Given the description of an element on the screen output the (x, y) to click on. 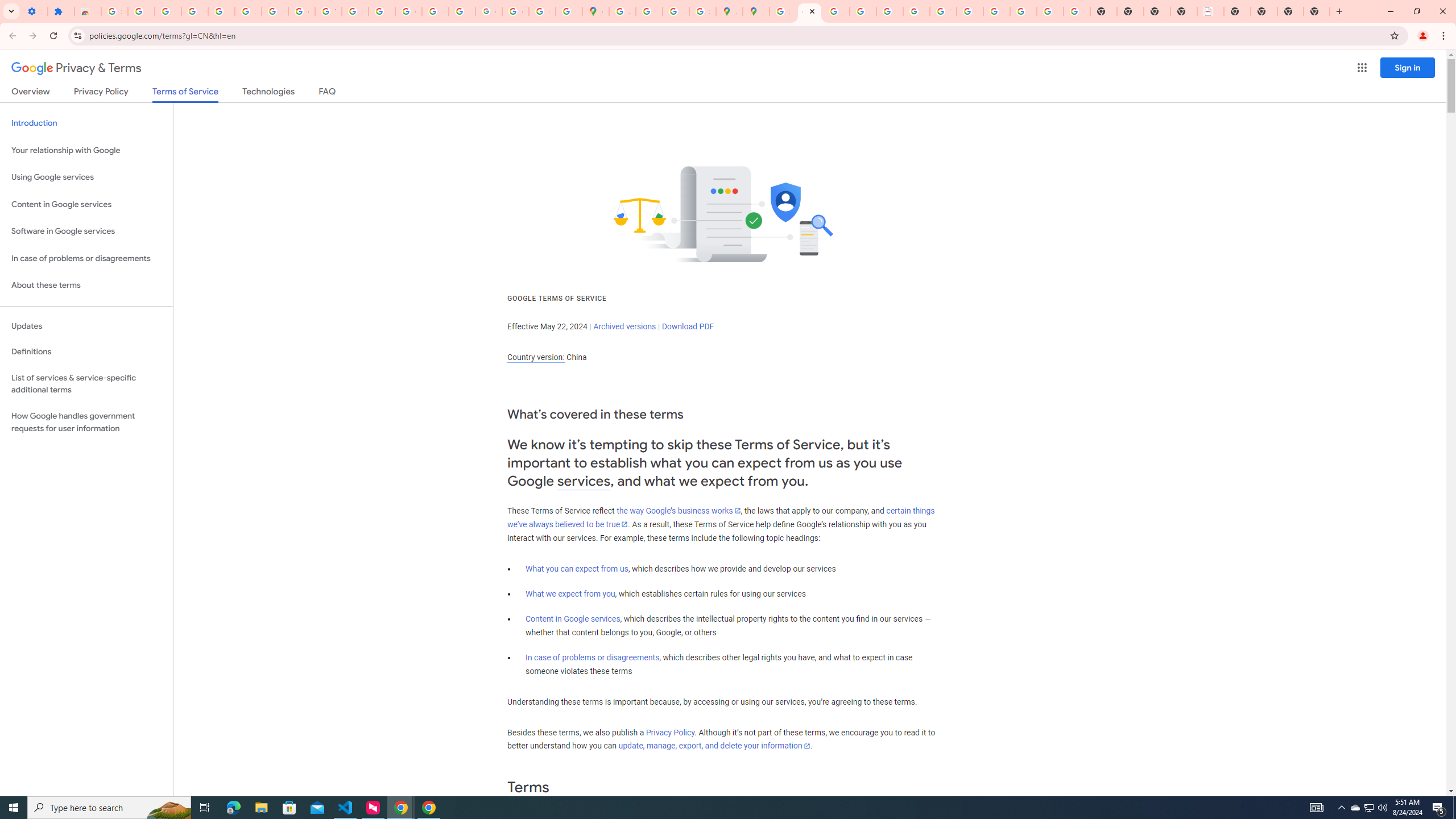
https://scholar.google.com/ (382, 11)
